Given the description of an element on the screen output the (x, y) to click on. 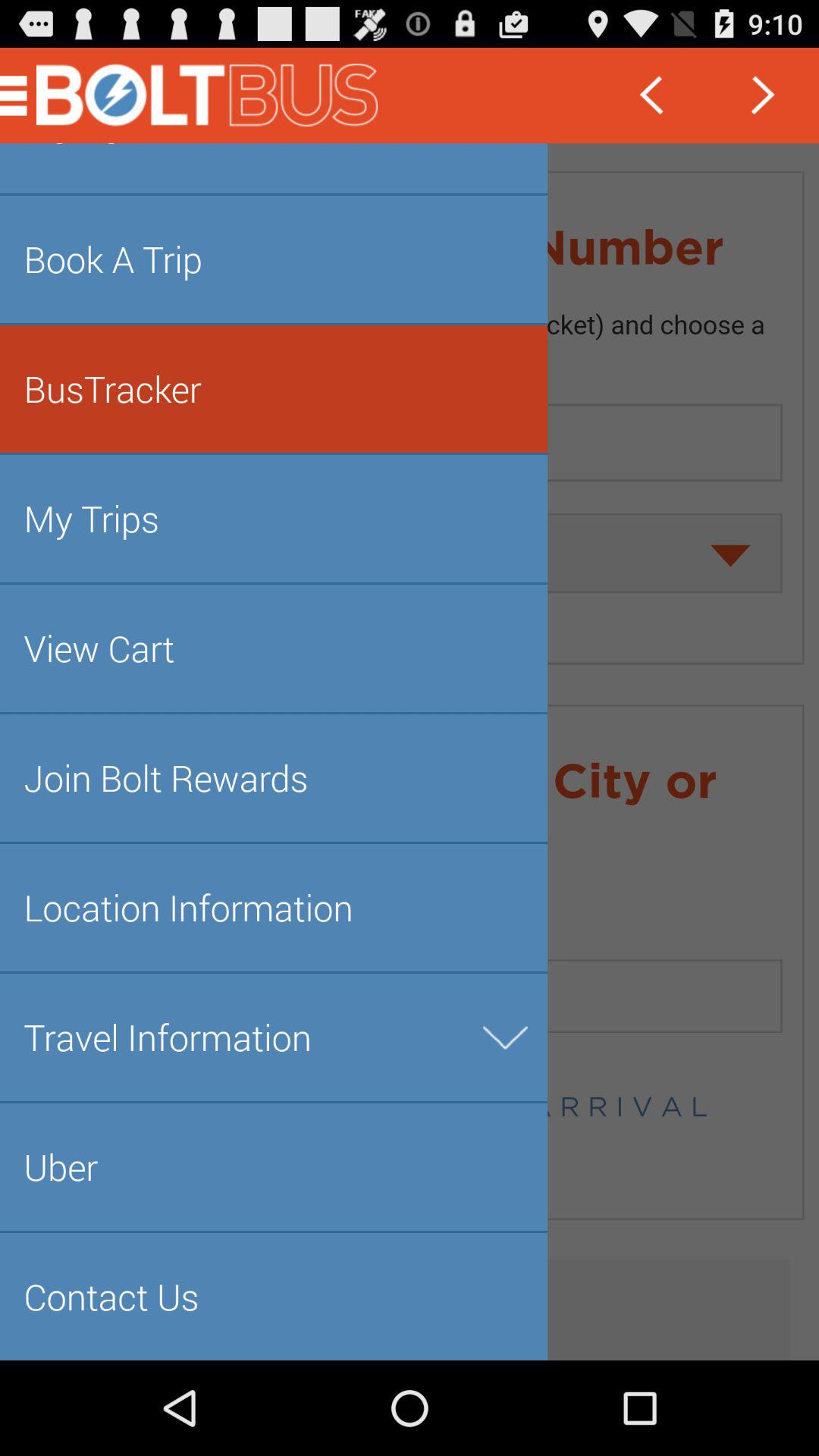
select the bus tracker option on the page (22, 95)
